Given the description of an element on the screen output the (x, y) to click on. 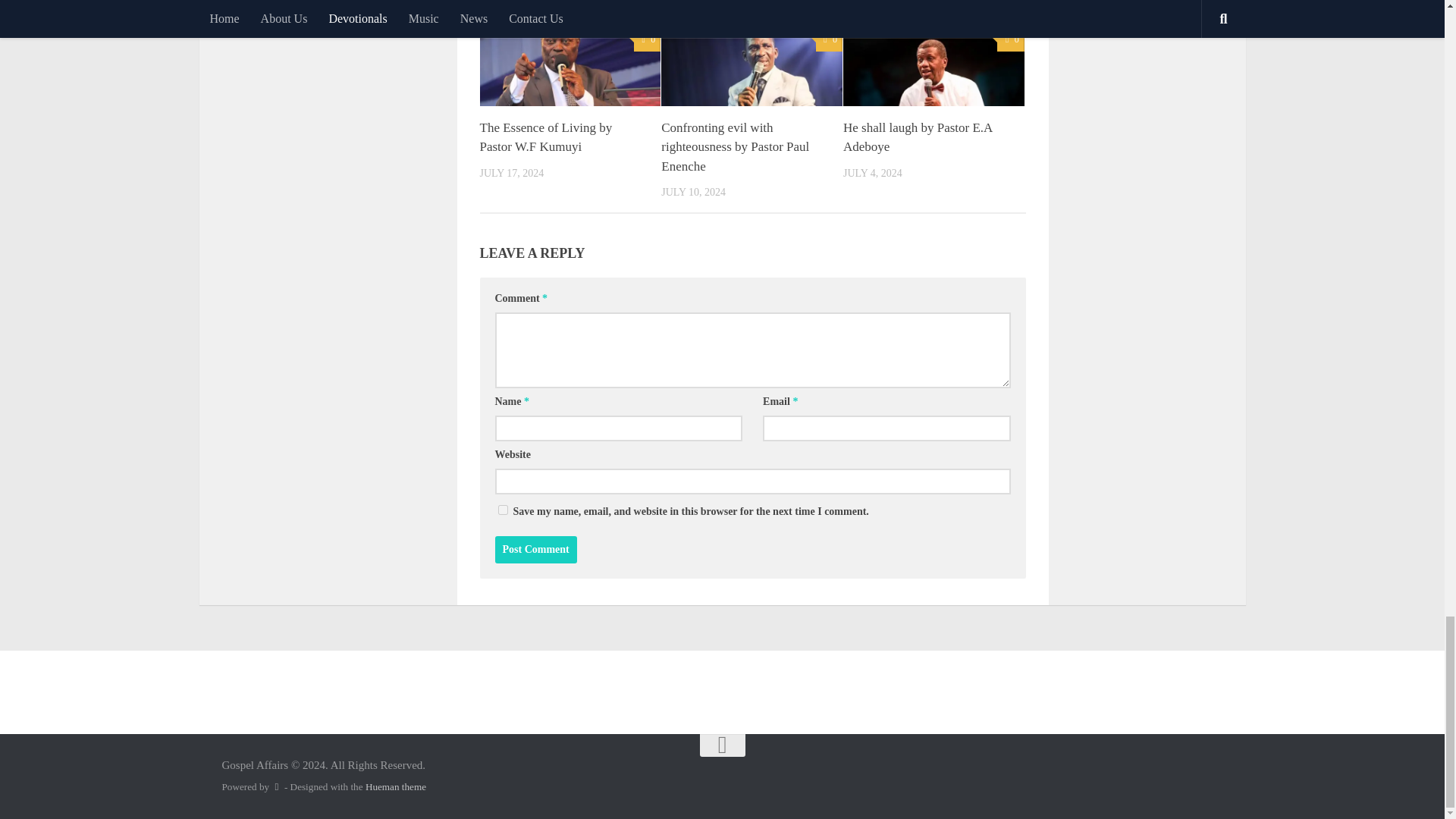
0 (829, 39)
Post Comment (535, 549)
The Essence of Living by Pastor W.F Kumuyi (545, 137)
0 (1010, 39)
yes (501, 510)
He shall laugh by Pastor E.A Adeboye (917, 137)
Confronting evil with righteousness by Pastor Paul Enenche (735, 146)
0 (647, 39)
